Given the description of an element on the screen output the (x, y) to click on. 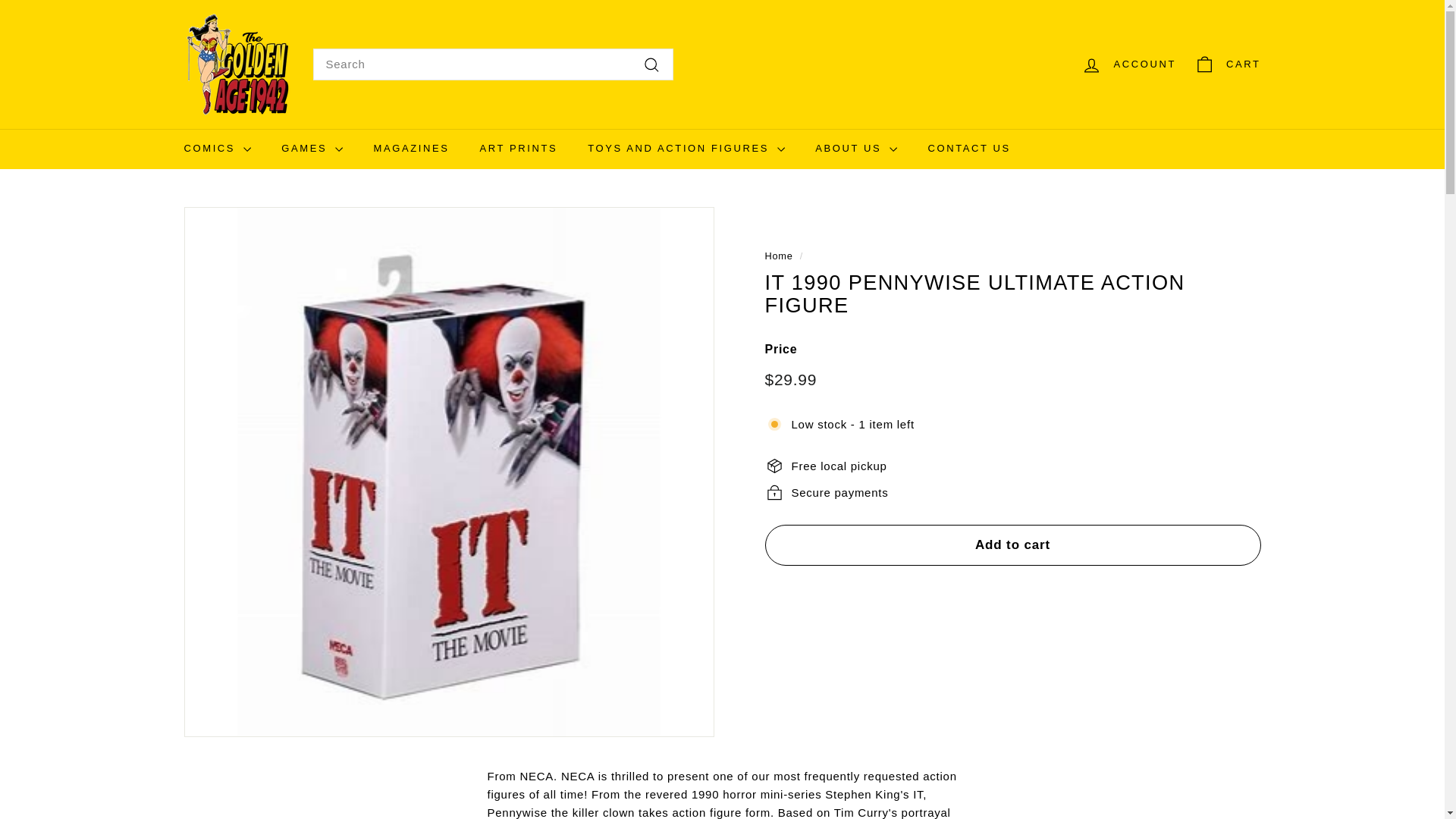
ACCOUNT (1128, 64)
Back to the frontpage (778, 255)
CART (1227, 64)
